Given the description of an element on the screen output the (x, y) to click on. 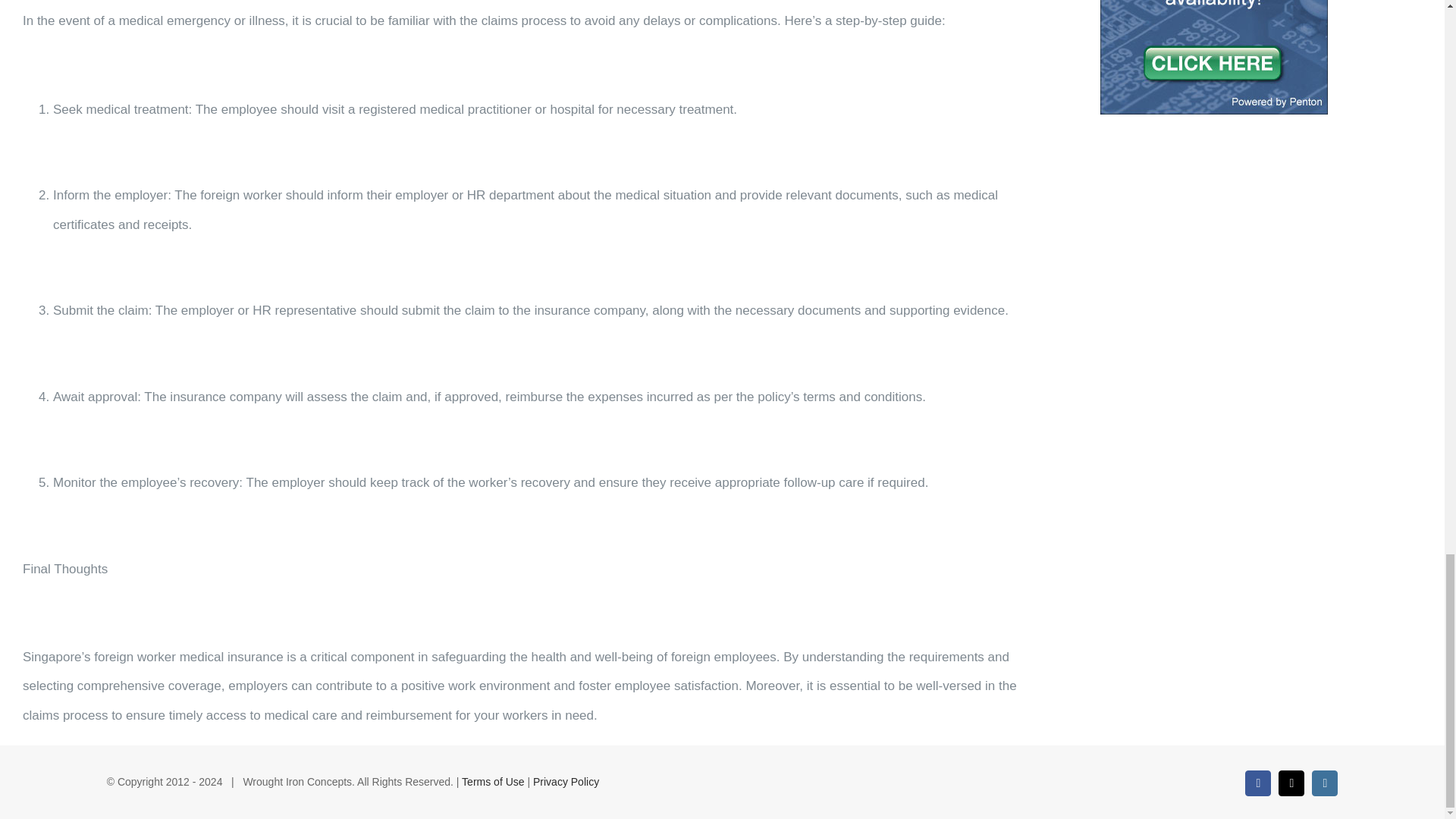
Facebook (1257, 783)
Facebook (1257, 783)
Privacy Policy (565, 781)
Terms of Use (492, 781)
X (1291, 783)
Instagram (1324, 783)
Instagram (1324, 783)
X (1291, 783)
